Given the description of an element on the screen output the (x, y) to click on. 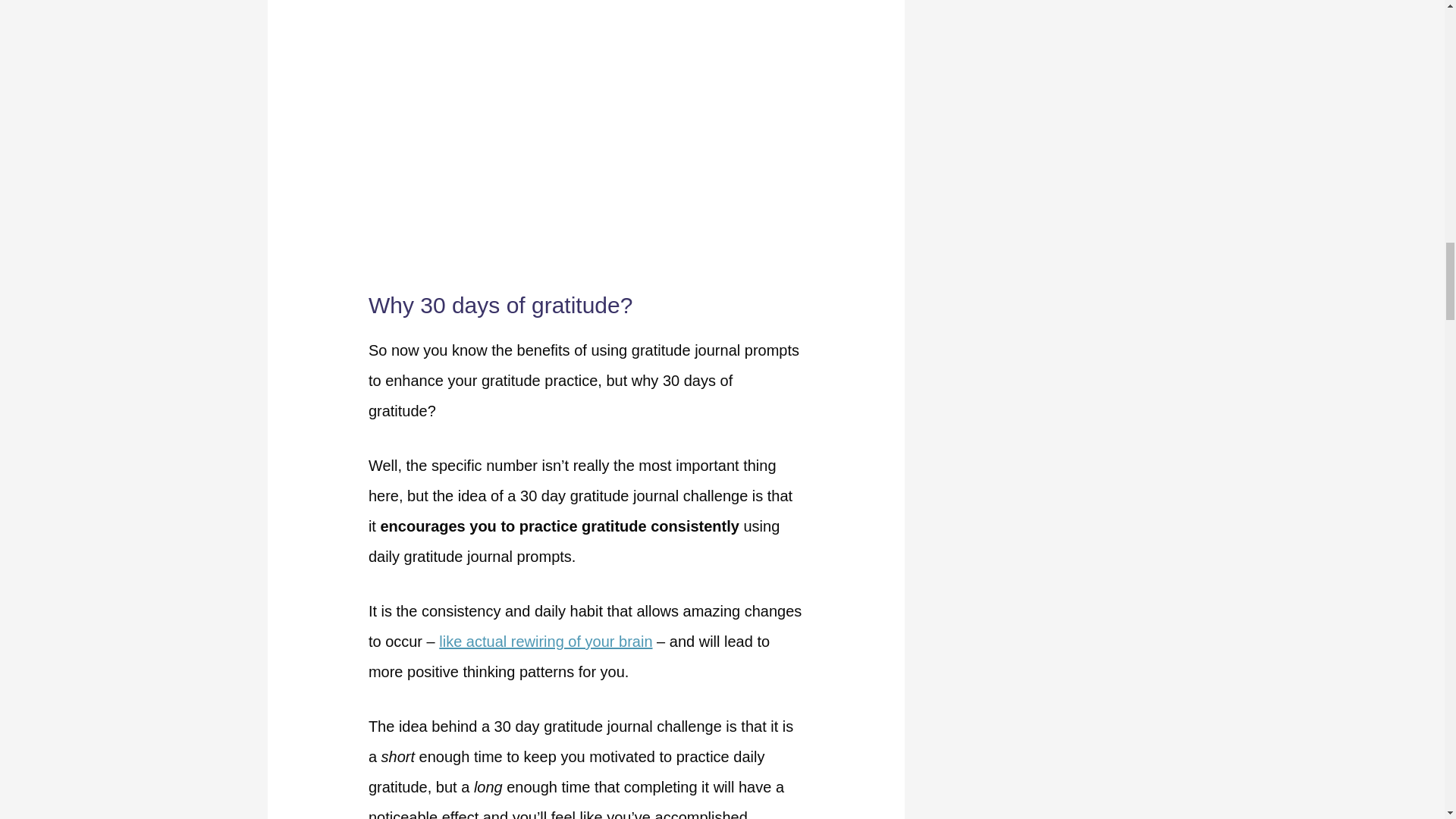
gratitude journaling prompts (585, 145)
